Given the description of an element on the screen output the (x, y) to click on. 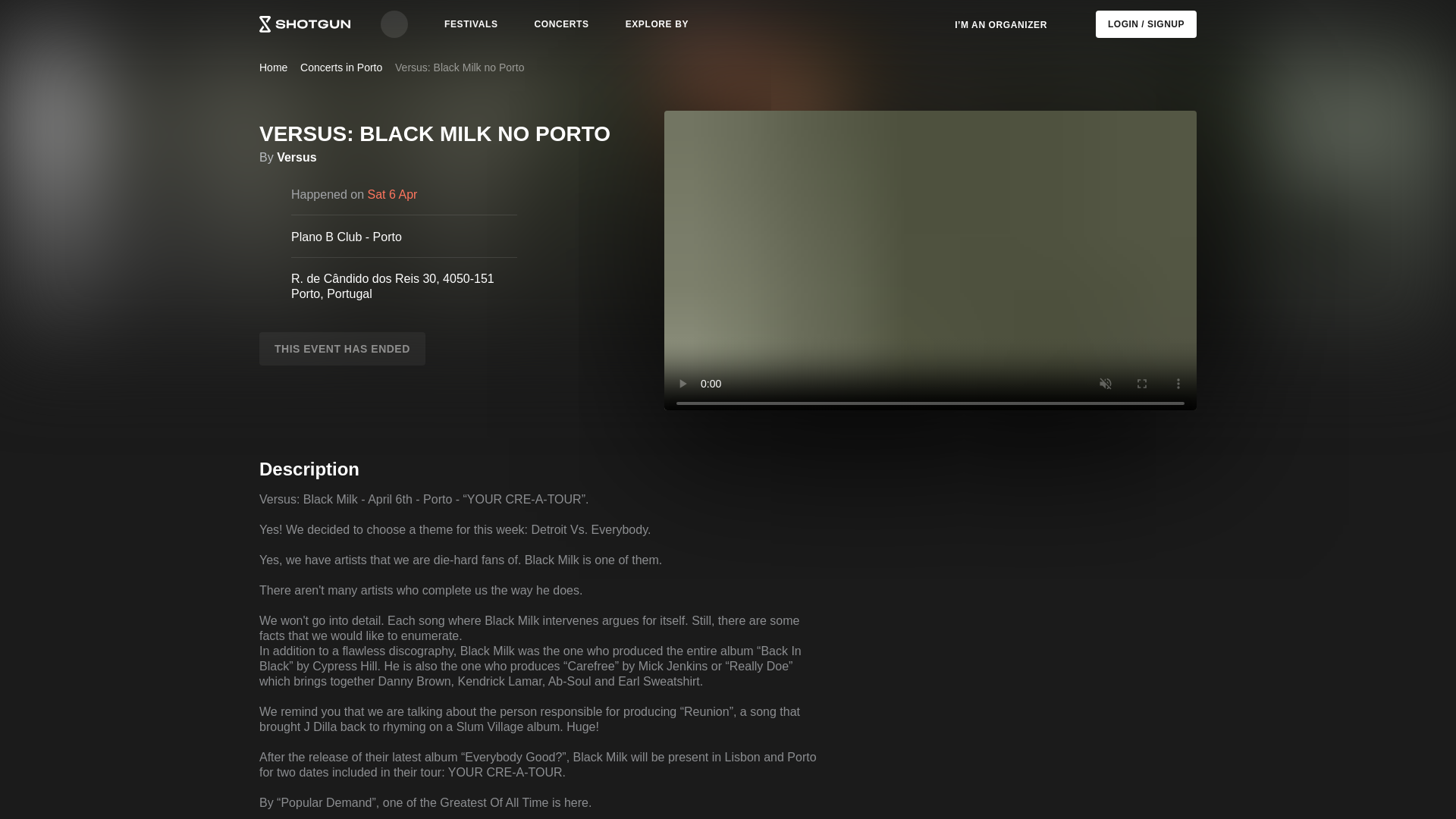
Versus (295, 157)
Home (272, 67)
FESTIVALS (470, 24)
CONCERTS (561, 24)
Versus: Black Milk no Porto (459, 67)
Concerts in Porto (340, 67)
